Given the description of an element on the screen output the (x, y) to click on. 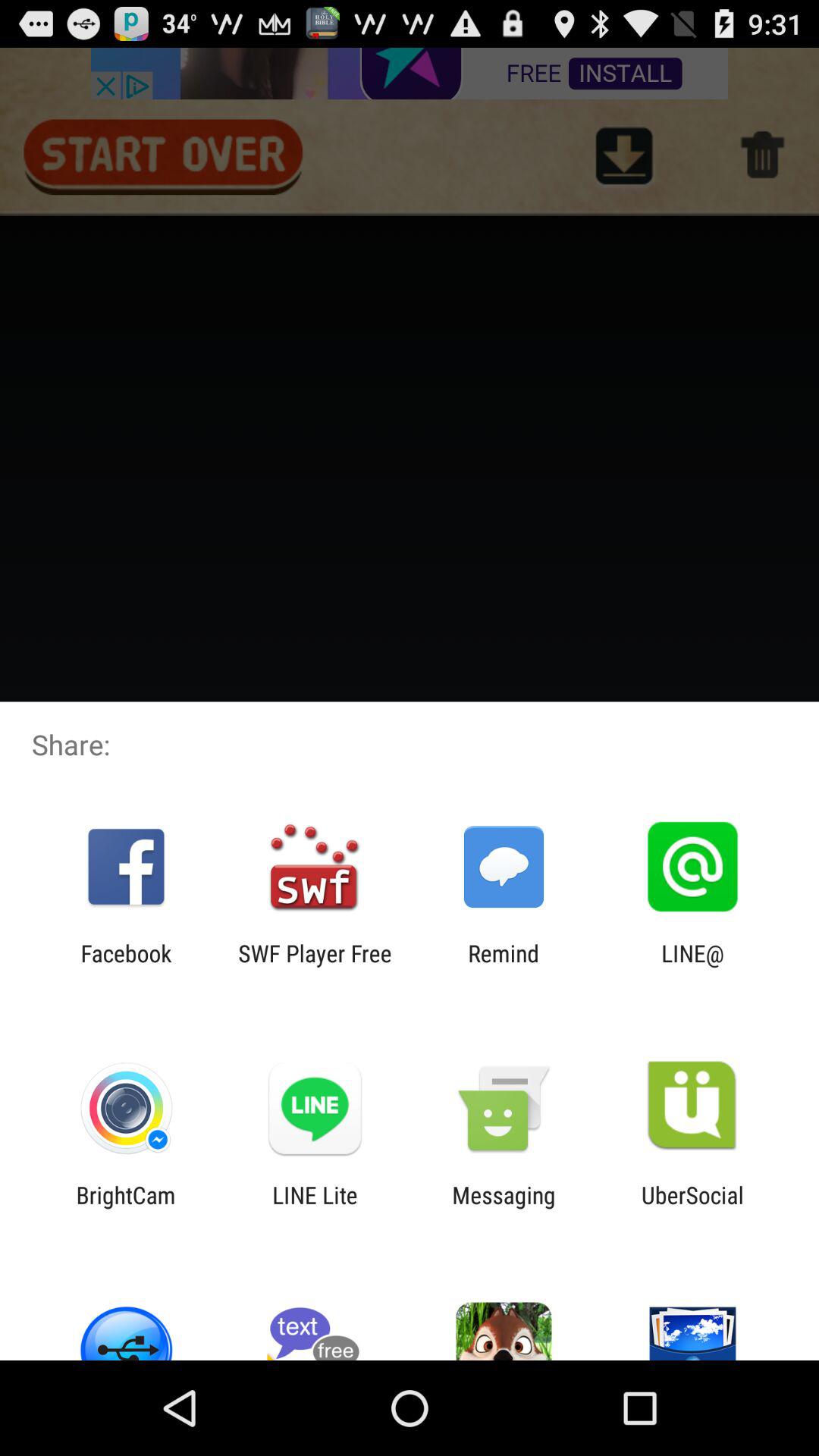
select item to the left of line@ icon (503, 966)
